Given the description of an element on the screen output the (x, y) to click on. 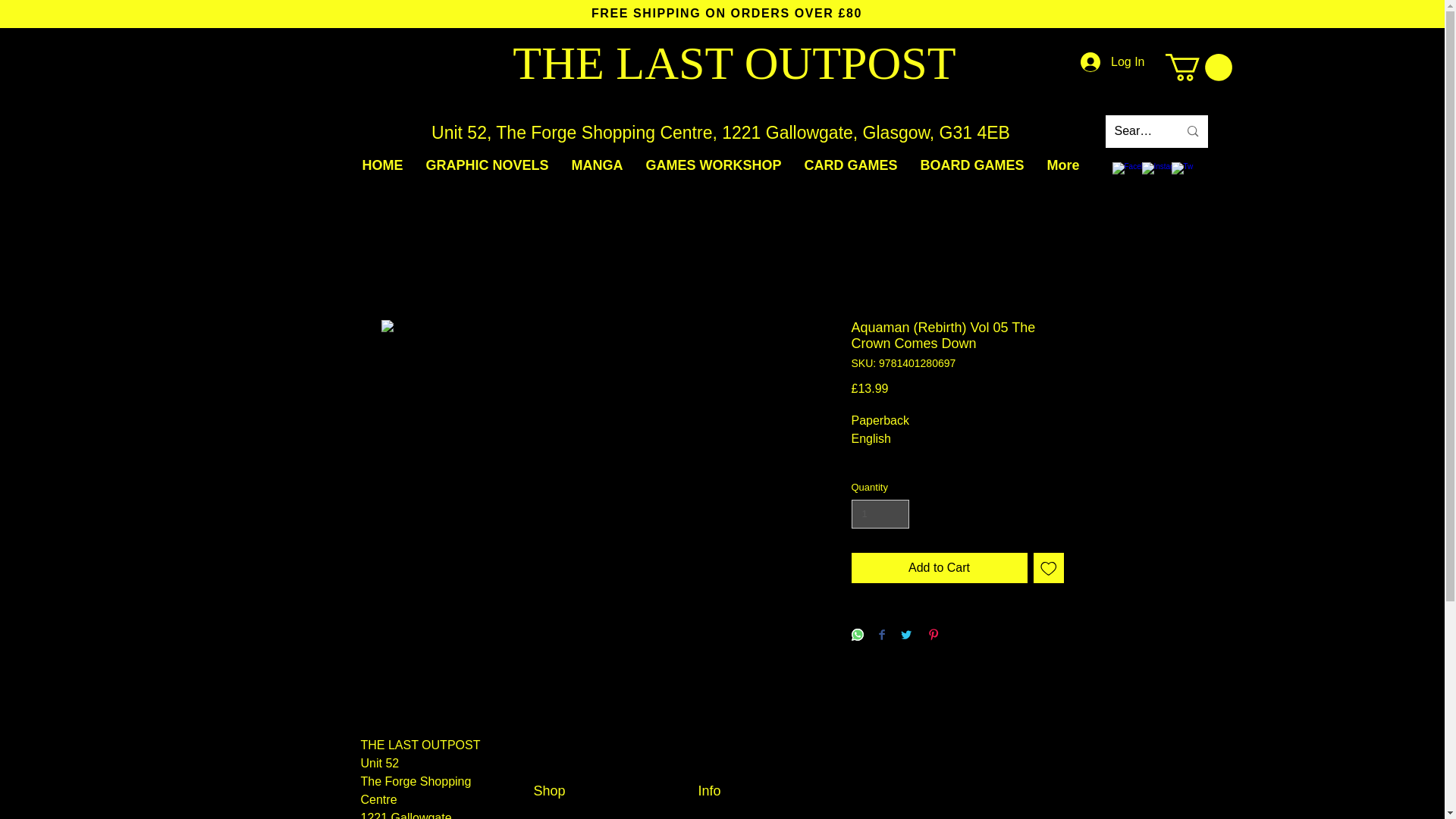
THE LAST OUTPOST (733, 62)
FREE SHIPPING ON ORDER (685, 12)
HOME (381, 165)
BOARD GAMES (971, 165)
CARD GAMES (850, 165)
GRAPHIC NOVELS (486, 165)
GAMES WORKSHOP (712, 165)
MANGA (596, 165)
Log In (1112, 61)
1 (879, 513)
